Given the description of an element on the screen output the (x, y) to click on. 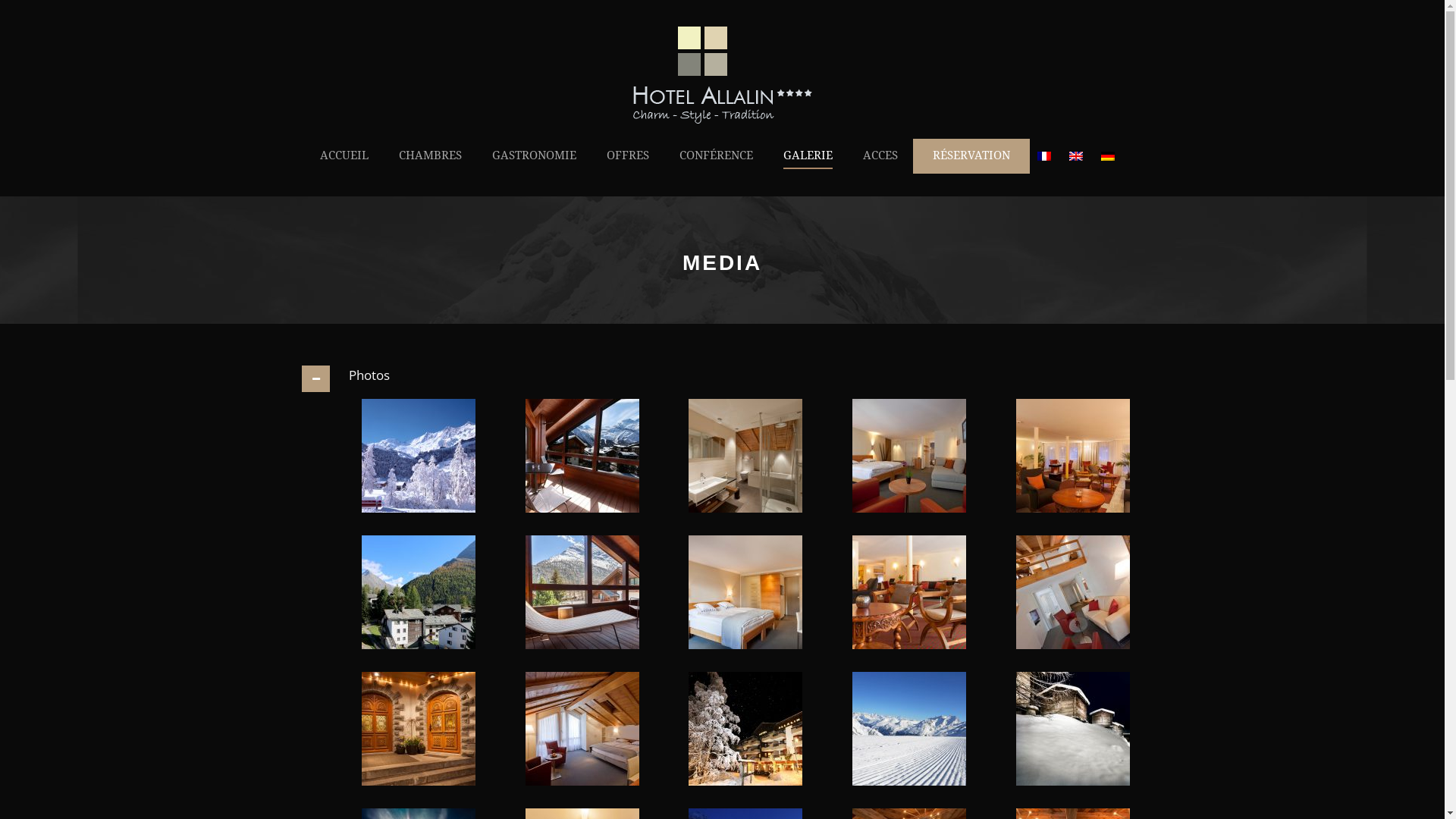
OFFRES Element type: text (627, 171)
ACCUEIL Element type: text (351, 171)
GASTRONOMIE Element type: text (533, 171)
GALERIE Element type: text (807, 171)
ACCES Element type: text (880, 171)
Deutsch Element type: hover (1107, 155)
English Element type: hover (1075, 155)
CHAMBRES Element type: text (429, 171)
